Given the description of an element on the screen output the (x, y) to click on. 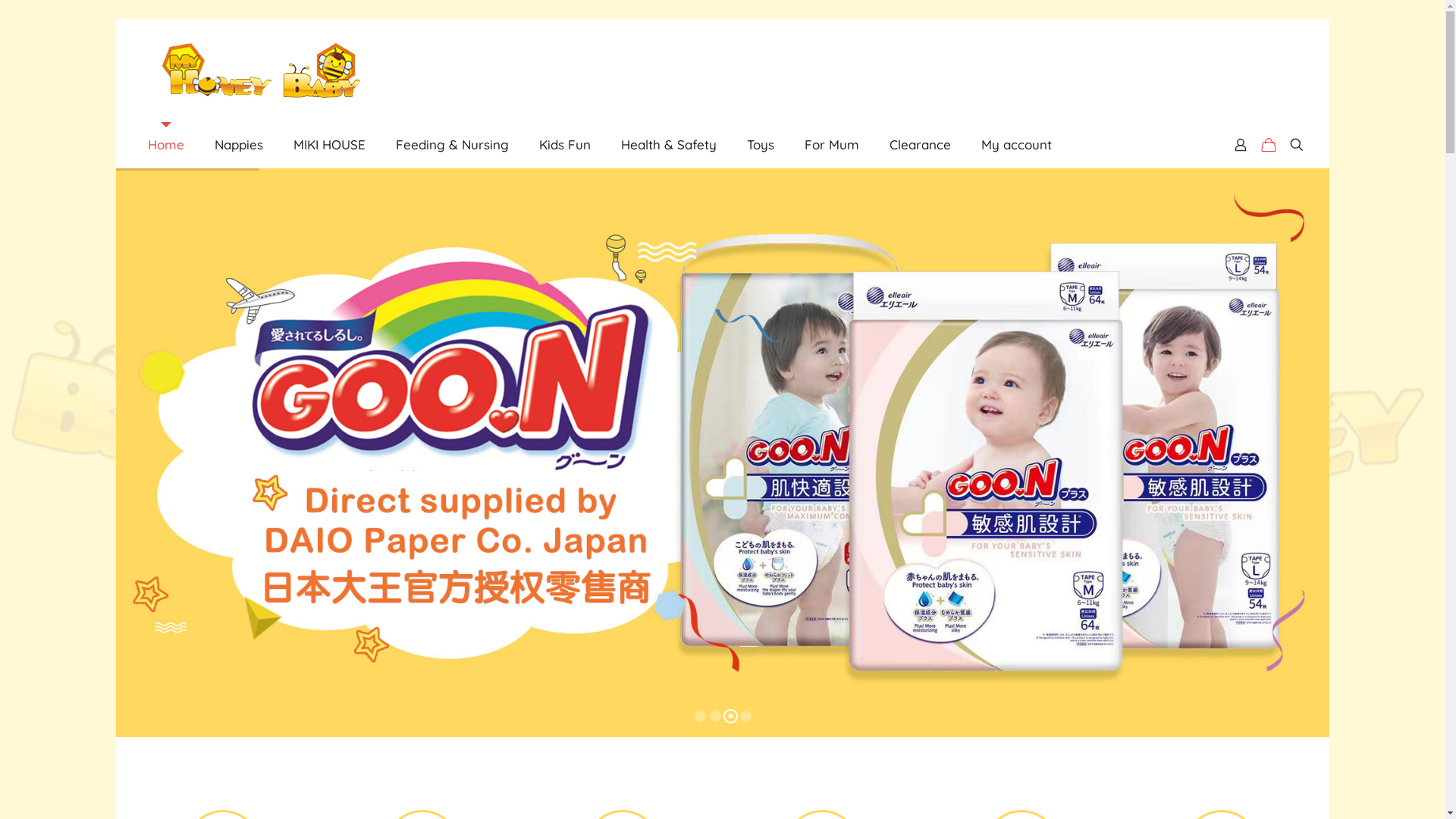
MIKI HOUSE Element type: text (328, 144)
Feeding & Nursing Element type: text (452, 144)
Nappies Element type: text (237, 144)
Health & Safety Element type: text (668, 144)
Clearance Element type: text (919, 144)
Kids Fun Element type: text (564, 144)
For Mum Element type: text (830, 144)
Toys Element type: text (759, 144)
My account Element type: text (1016, 144)
Home Element type: text (164, 144)
